Given the description of an element on the screen output the (x, y) to click on. 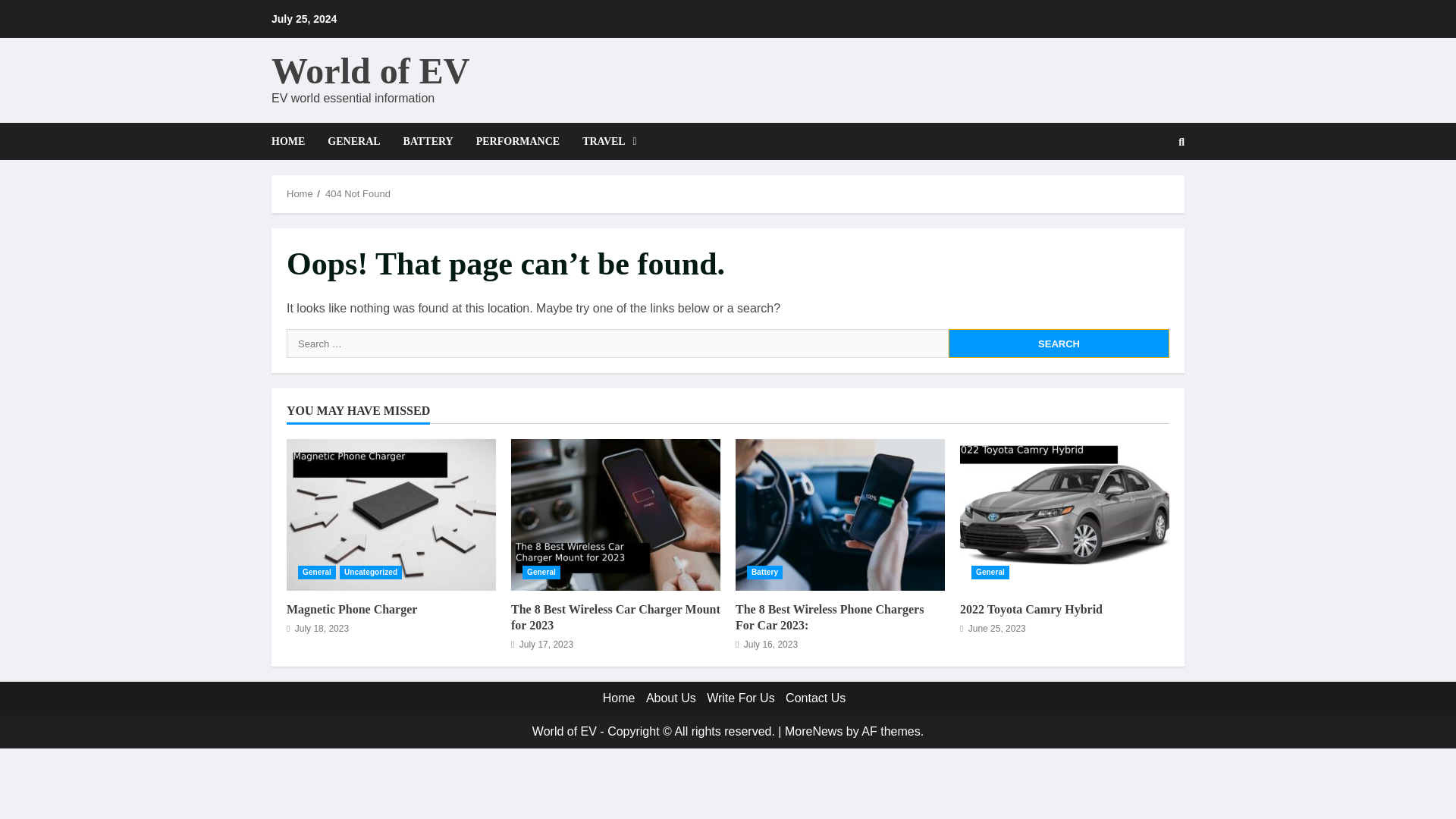
General (541, 572)
Search (1145, 193)
MoreNews (813, 730)
Write For Us (740, 697)
Search (1059, 343)
The 8 Best Wireless Phone Chargers For Car 2023: (839, 514)
Magnetic Phone Charger (351, 608)
General (990, 572)
The 8 Best Wireless Car Charger Mount for 2023 (615, 514)
HOME (292, 140)
About Us (670, 697)
Home (618, 697)
Uncategorized (370, 572)
General (317, 572)
Home (299, 193)
